Given the description of an element on the screen output the (x, y) to click on. 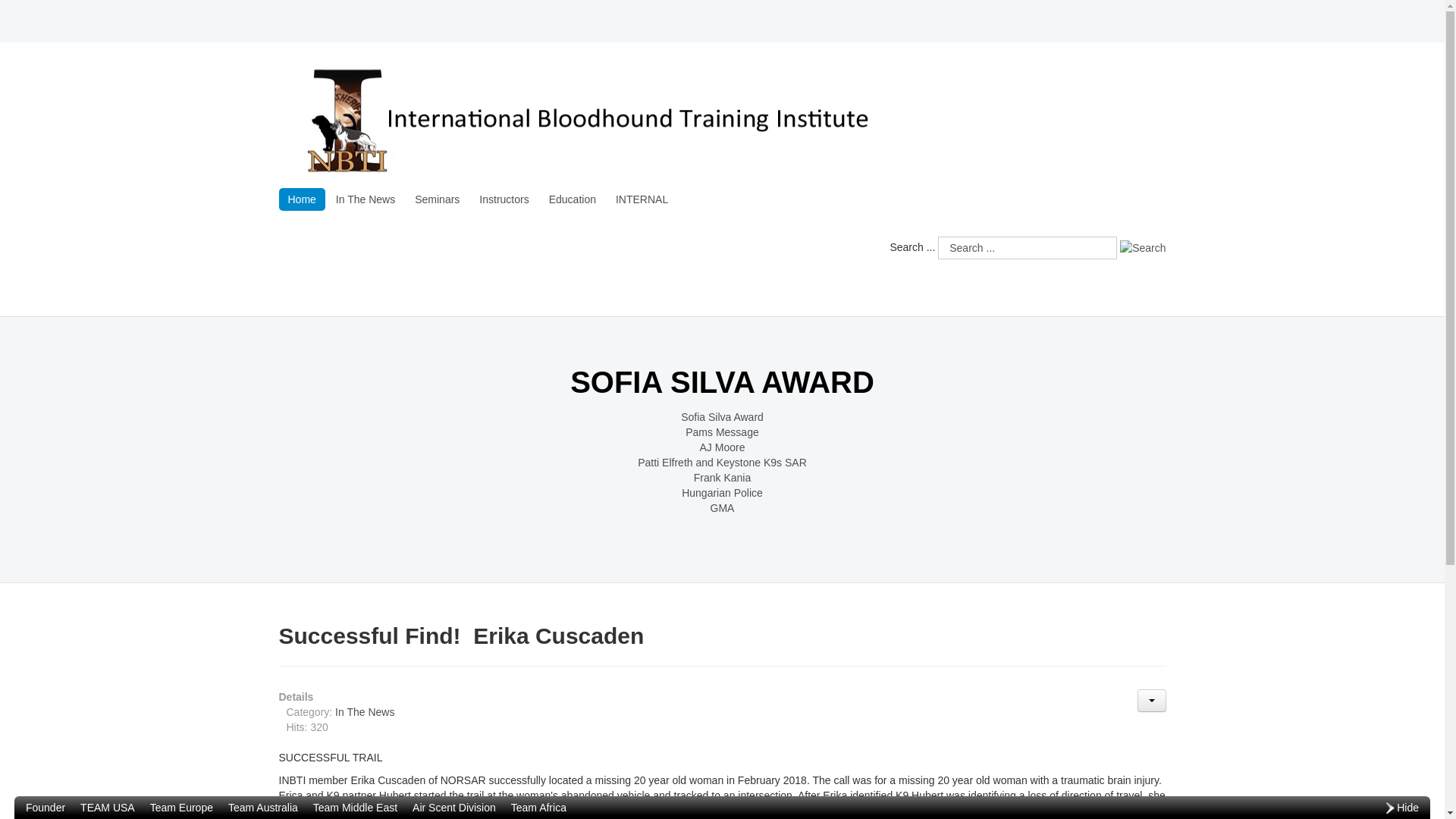
In The News (364, 711)
GMA (722, 507)
Team Middle East (355, 807)
Home (301, 199)
INTERNAL (642, 199)
Team Australia (263, 807)
Air Scent Division (454, 807)
Instructors (503, 199)
In The News (365, 199)
Sofia Silva Award (722, 417)
